Given the description of an element on the screen output the (x, y) to click on. 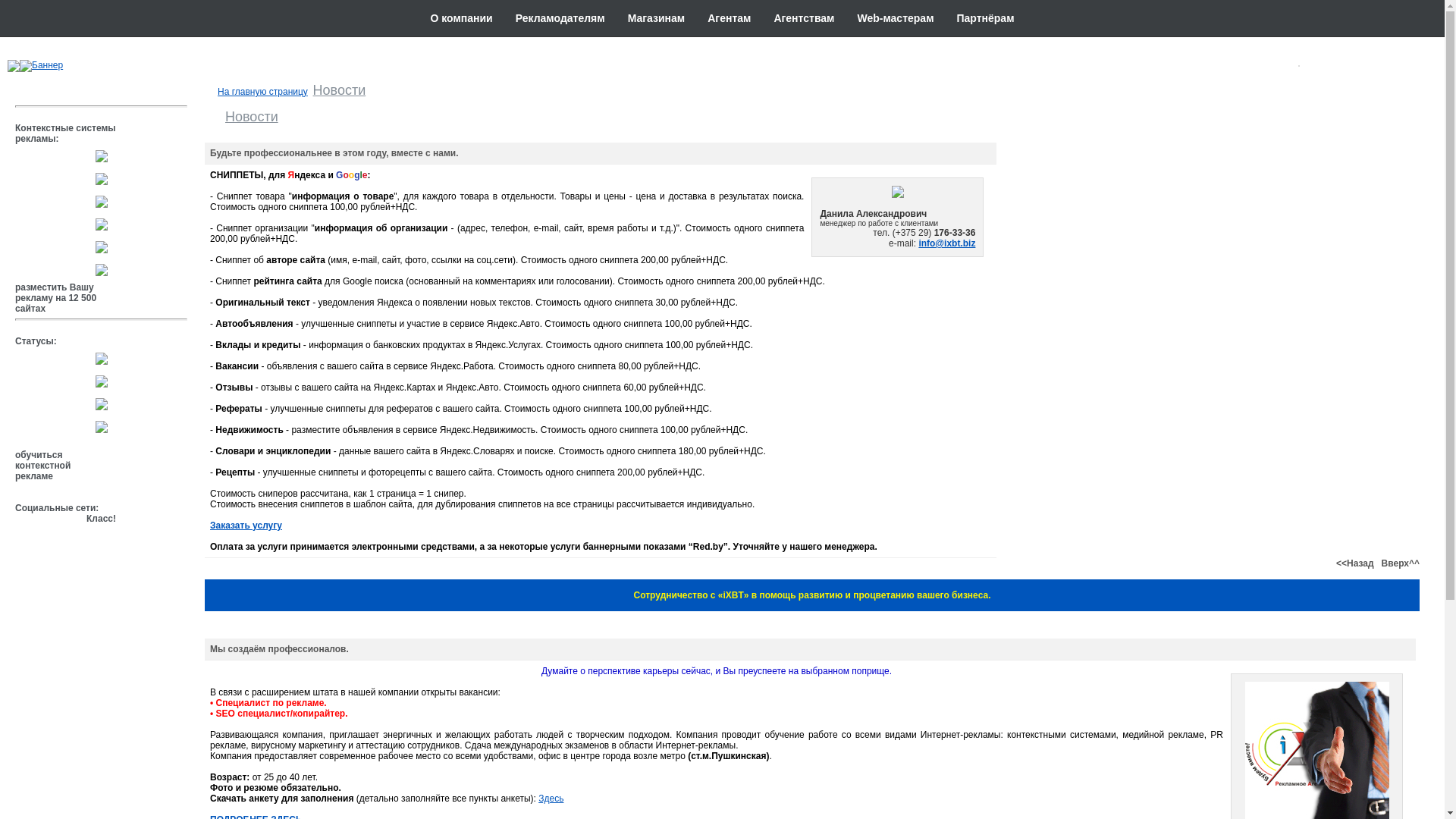
info@ixbt.biz Element type: text (946, 243)
